Given the description of an element on the screen output the (x, y) to click on. 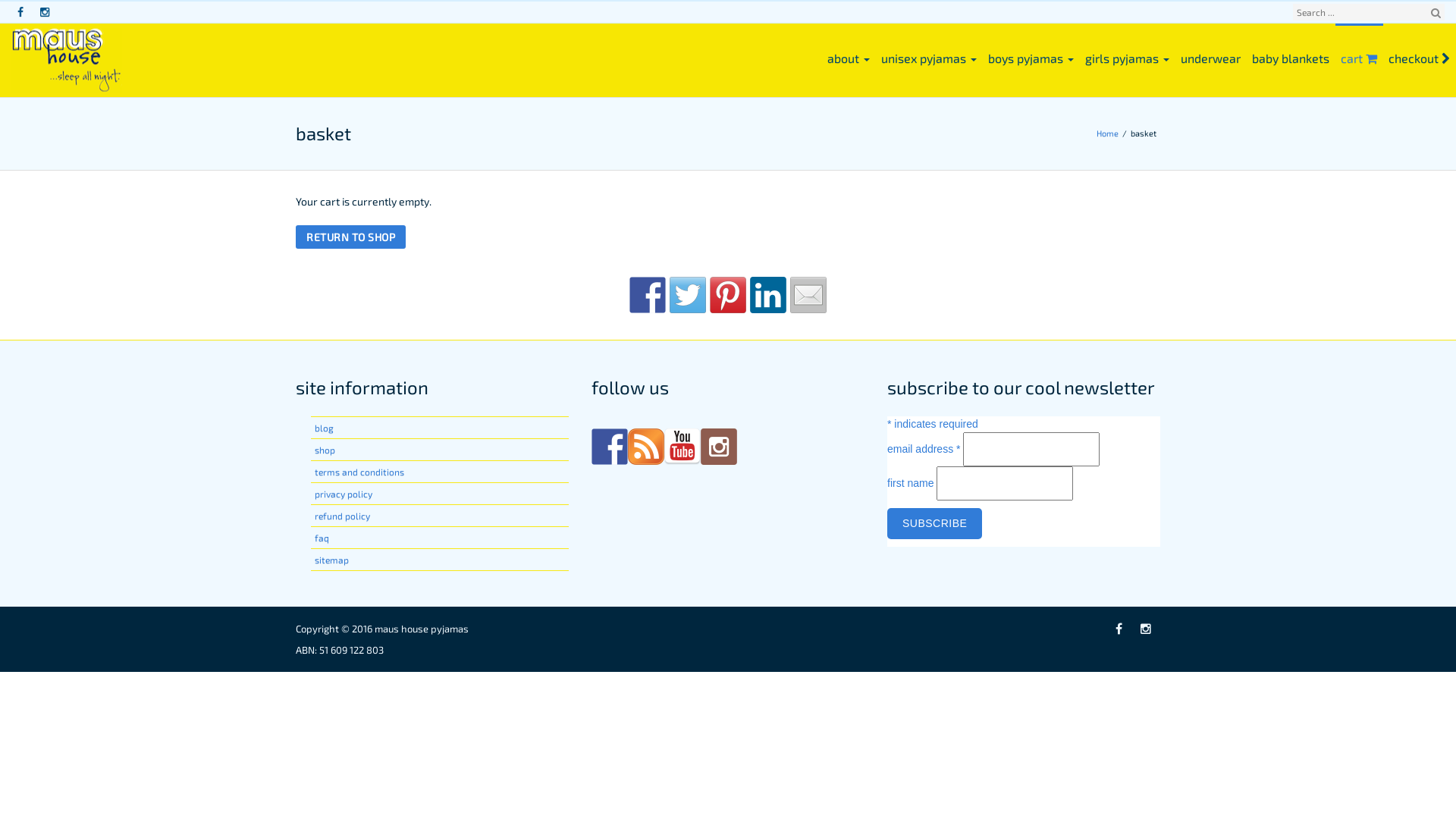
Share on Facebook Element type: hover (647, 294)
subscribe to our feed Element type: hover (645, 446)
faq Element type: text (321, 537)
find us on youtube Element type: hover (682, 446)
maus house pyjamas Element type: text (421, 628)
baby blankets Element type: text (1290, 57)
Home Element type: text (1109, 133)
terms and conditions Element type: text (359, 471)
refund policy Element type: text (342, 515)
privacy policy Element type: text (343, 493)
Search Element type: text (1435, 12)
Share on Twitter Element type: hover (687, 294)
Pin it with Pinterest Element type: hover (727, 294)
underwear Element type: text (1210, 57)
sitemap Element type: text (331, 559)
blog Element type: text (323, 427)
Skip to content Element type: text (0, 0)
shop Element type: text (324, 449)
girls pyjamas Element type: text (1127, 57)
boys pyjamas Element type: text (1030, 57)
Share on Linkedin Element type: hover (767, 294)
follow us on facebook Element type: hover (609, 446)
Share by email Element type: hover (808, 294)
follow us on instagram Element type: hover (718, 446)
unisex pyjamas Element type: text (928, 57)
RETURN TO SHOP Element type: text (350, 236)
subscribe Element type: text (934, 523)
about Element type: text (848, 57)
cart Element type: text (1359, 57)
